Given the description of an element on the screen output the (x, y) to click on. 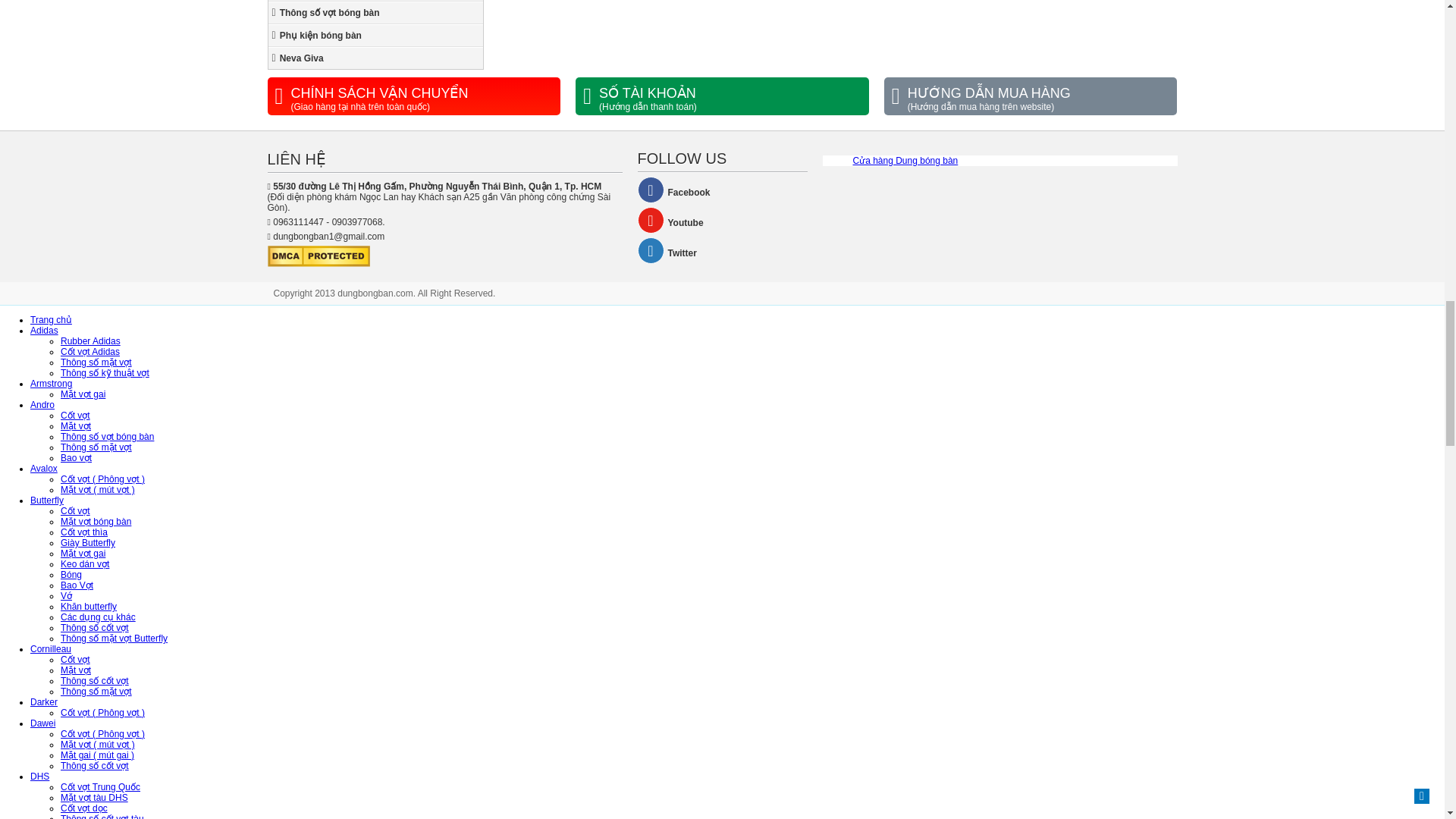
DMCA.com Protection Status (317, 263)
